Given the description of an element on the screen output the (x, y) to click on. 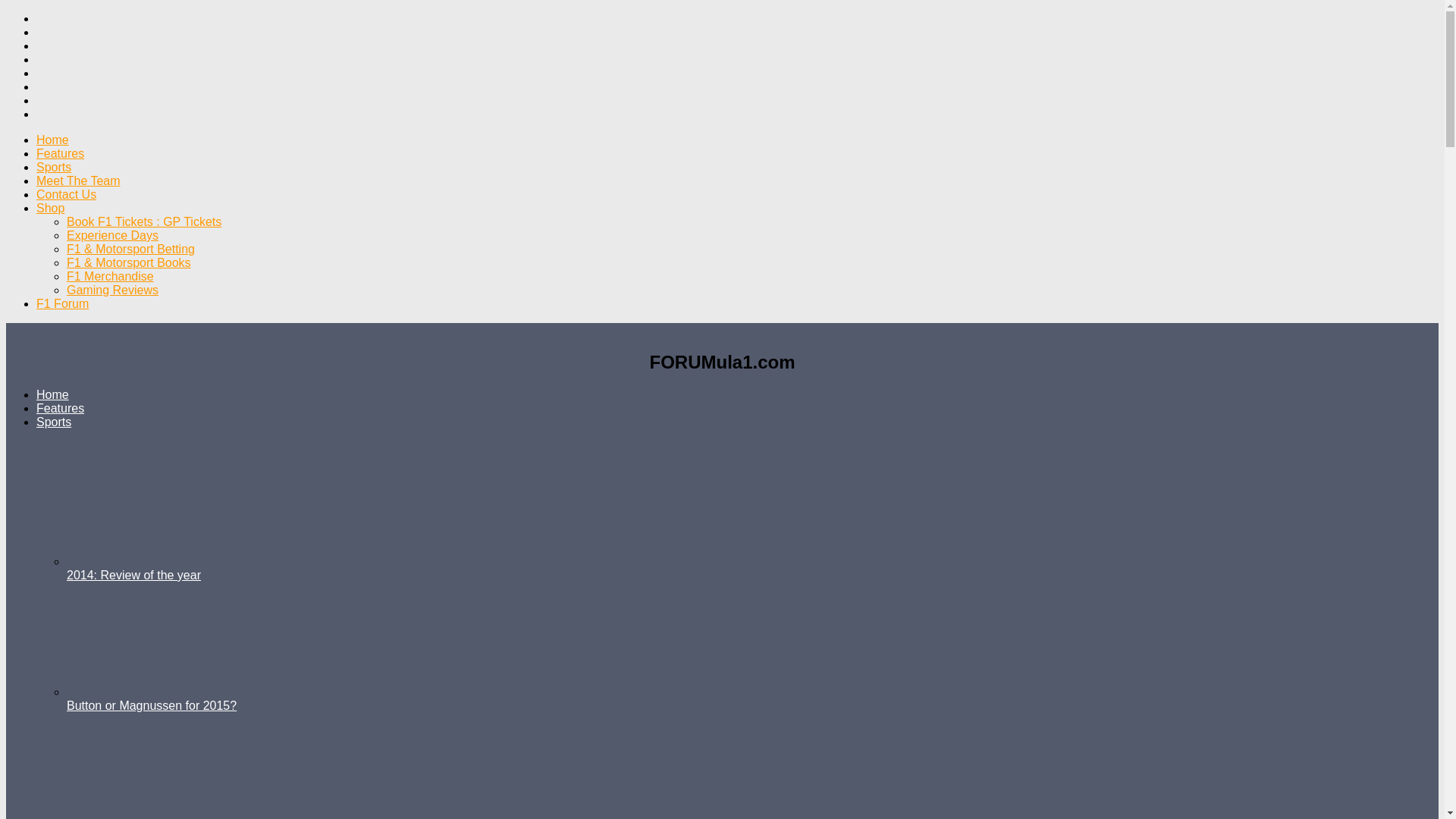
Features (60, 408)
Sports (53, 421)
Contact Us (66, 194)
Book F1 Tickets : GP Tickets (143, 221)
F1 Forum (62, 303)
Meet The Team (78, 180)
Home (52, 139)
Features (60, 153)
Gaming Reviews (112, 289)
Shop (50, 207)
F1 Merchandise (110, 276)
Experience Days (112, 235)
Sports (53, 166)
Home (52, 394)
